Given the description of an element on the screen output the (x, y) to click on. 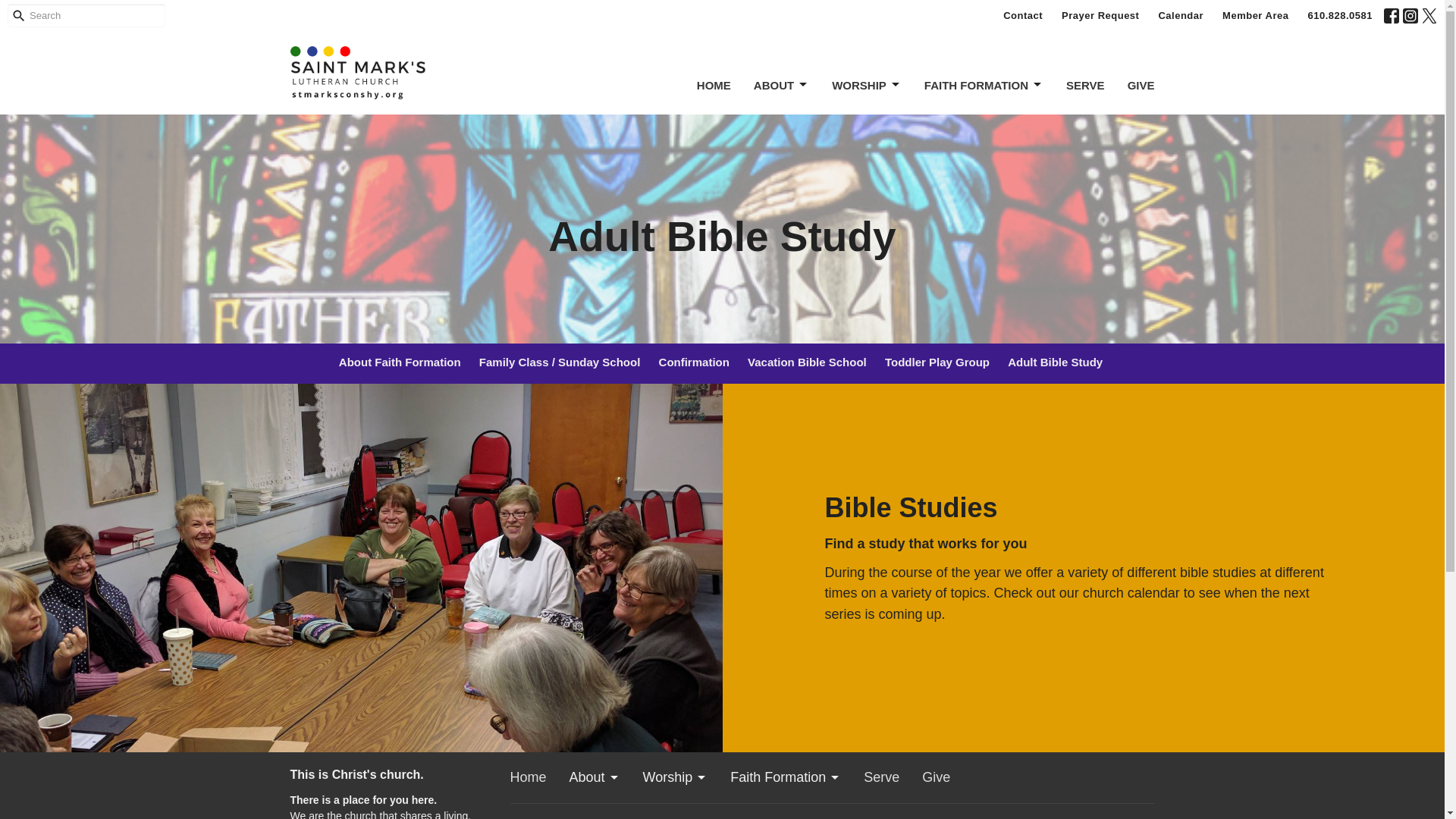
SERVE (1085, 84)
Prayer Request (1100, 15)
ABOUT (781, 84)
Calendar (1180, 15)
GIVE (1140, 84)
Confirmation (693, 363)
610.828.0581 (1340, 15)
Member Area (1254, 15)
About Faith Formation (400, 363)
Contact (1022, 15)
HOME (713, 84)
WORSHIP (866, 84)
FAITH FORMATION (983, 84)
